Given the description of an element on the screen output the (x, y) to click on. 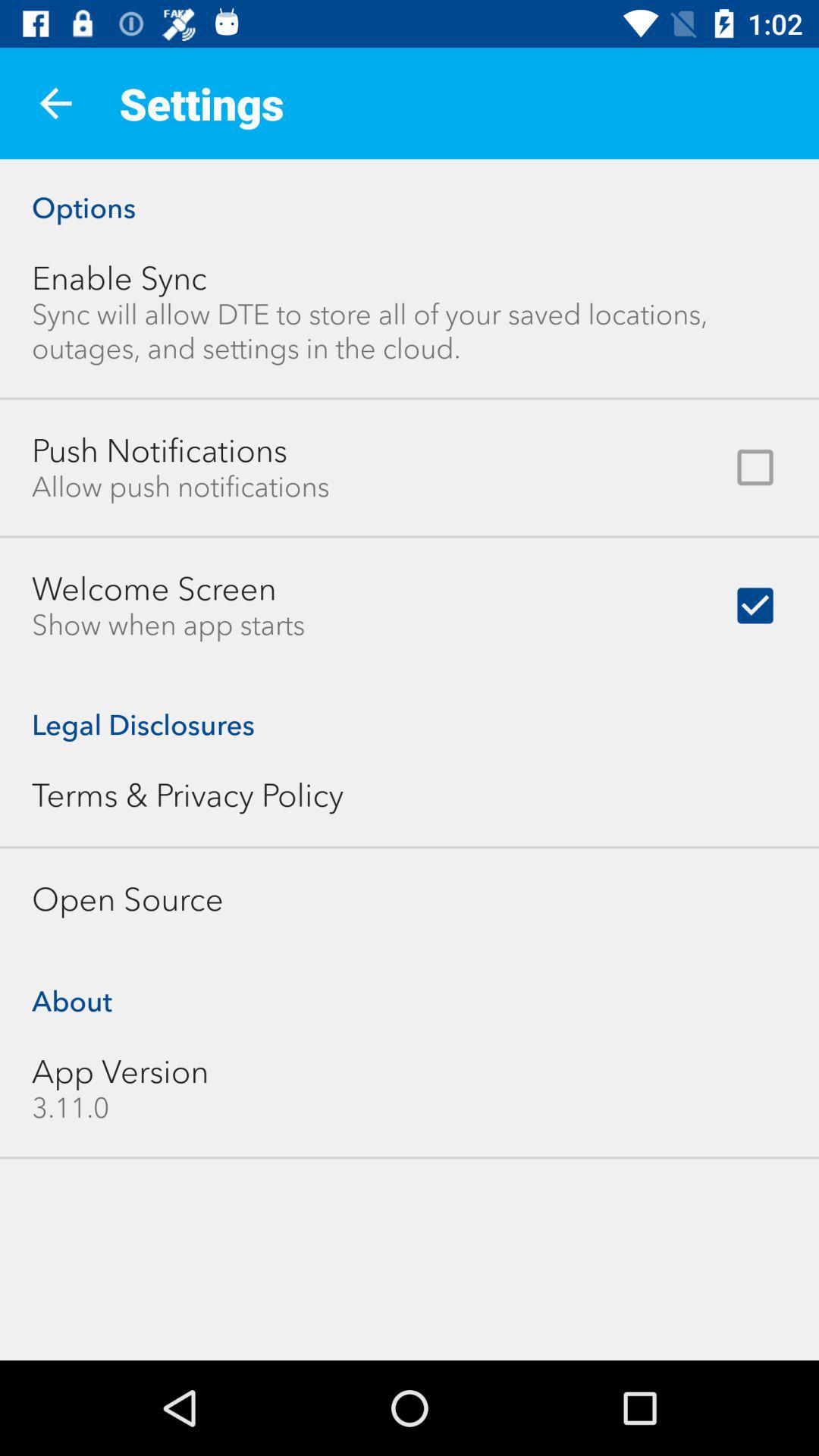
select the item below app version icon (70, 1107)
